Given the description of an element on the screen output the (x, y) to click on. 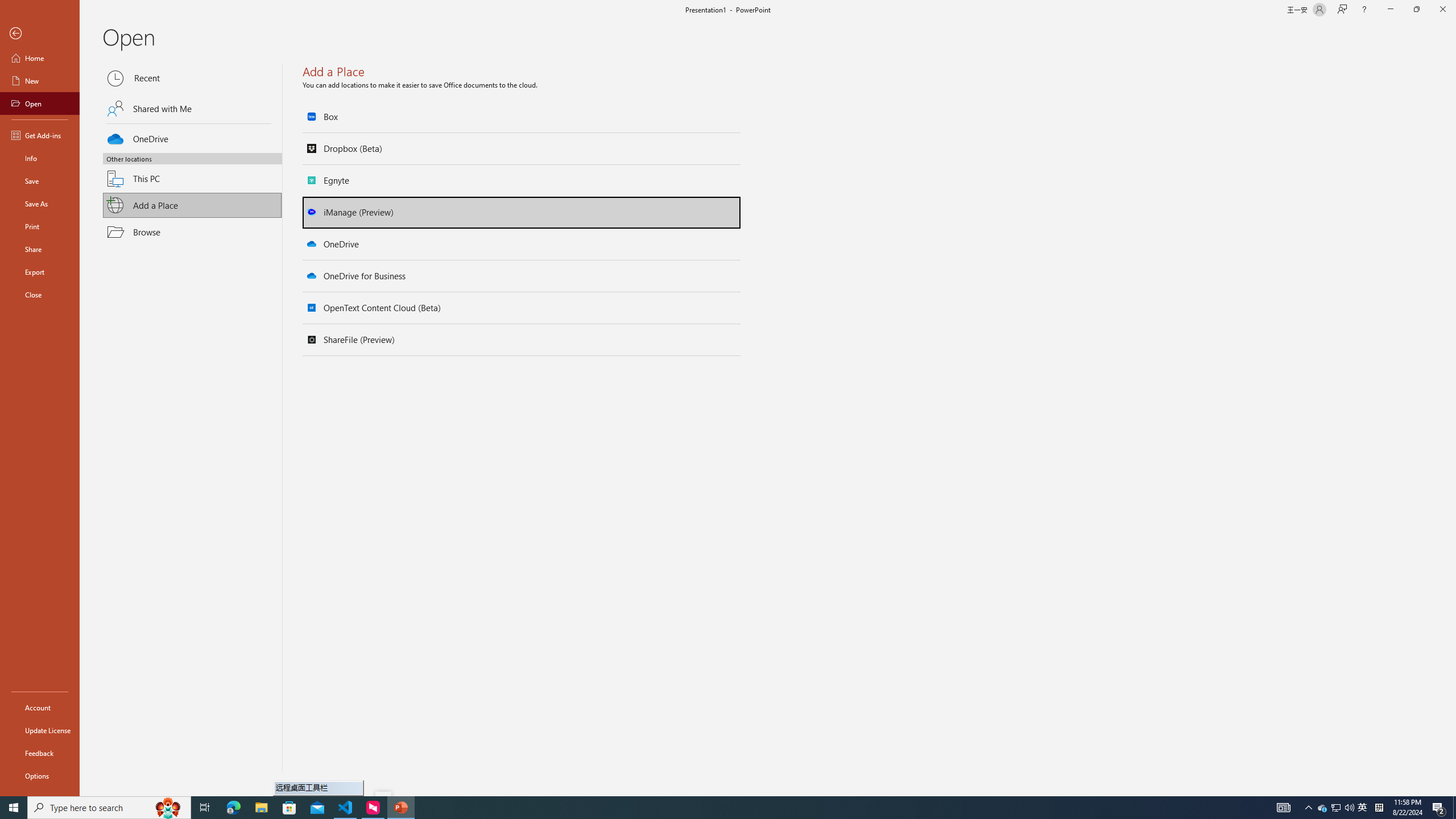
Print (40, 225)
Shared with Me (192, 108)
ShareFile (Preview) (521, 340)
OpenText Content Cloud (Beta) (521, 308)
iManage (Preview) (521, 212)
Info (40, 157)
Browse (192, 231)
Back (40, 33)
Update License (40, 730)
Recent (192, 78)
Account (40, 707)
New (40, 80)
